Given the description of an element on the screen output the (x, y) to click on. 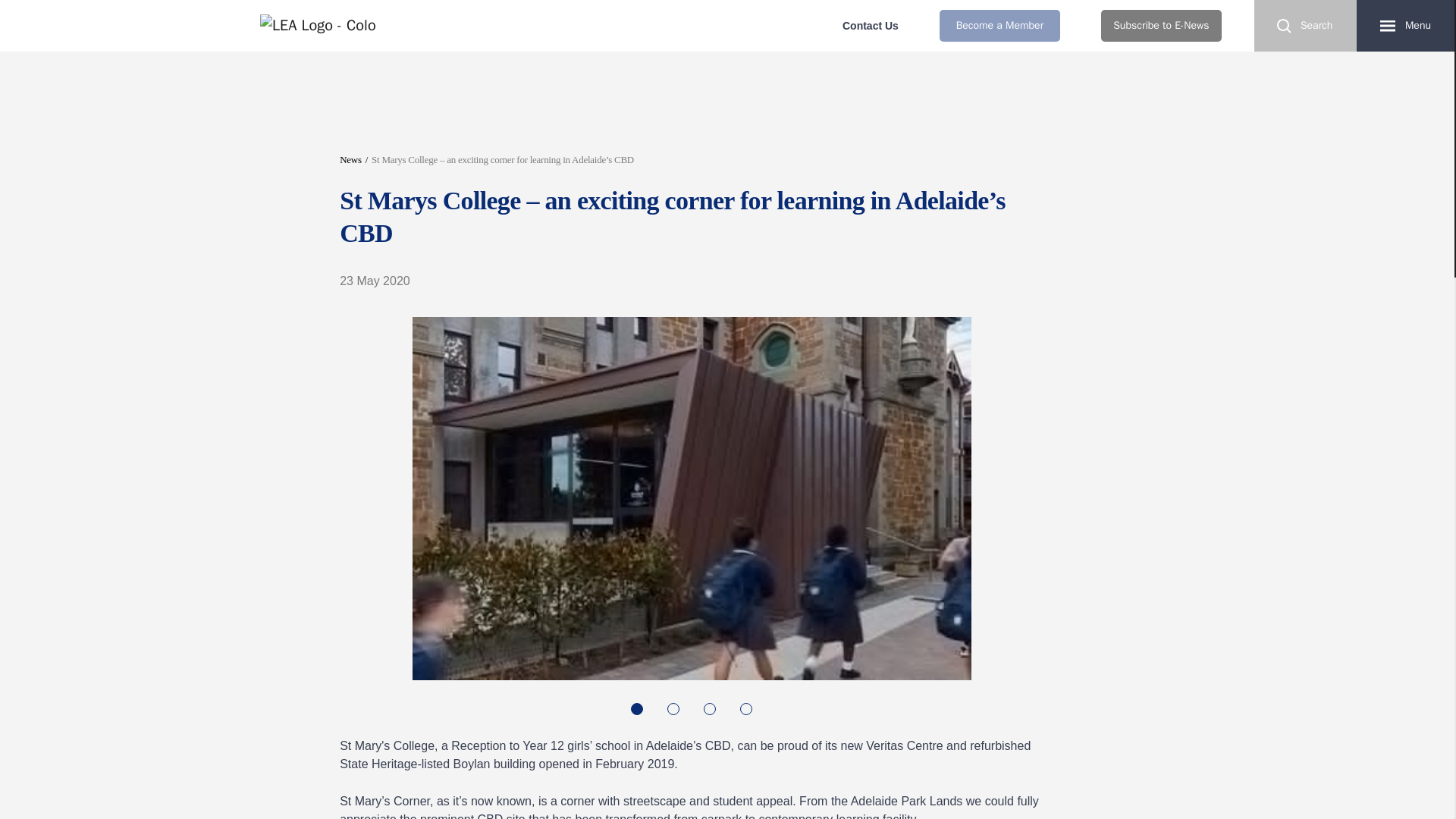
Contact Us (870, 25)
Subscribe to E-News (1160, 25)
Become a Member (999, 25)
